Given the description of an element on the screen output the (x, y) to click on. 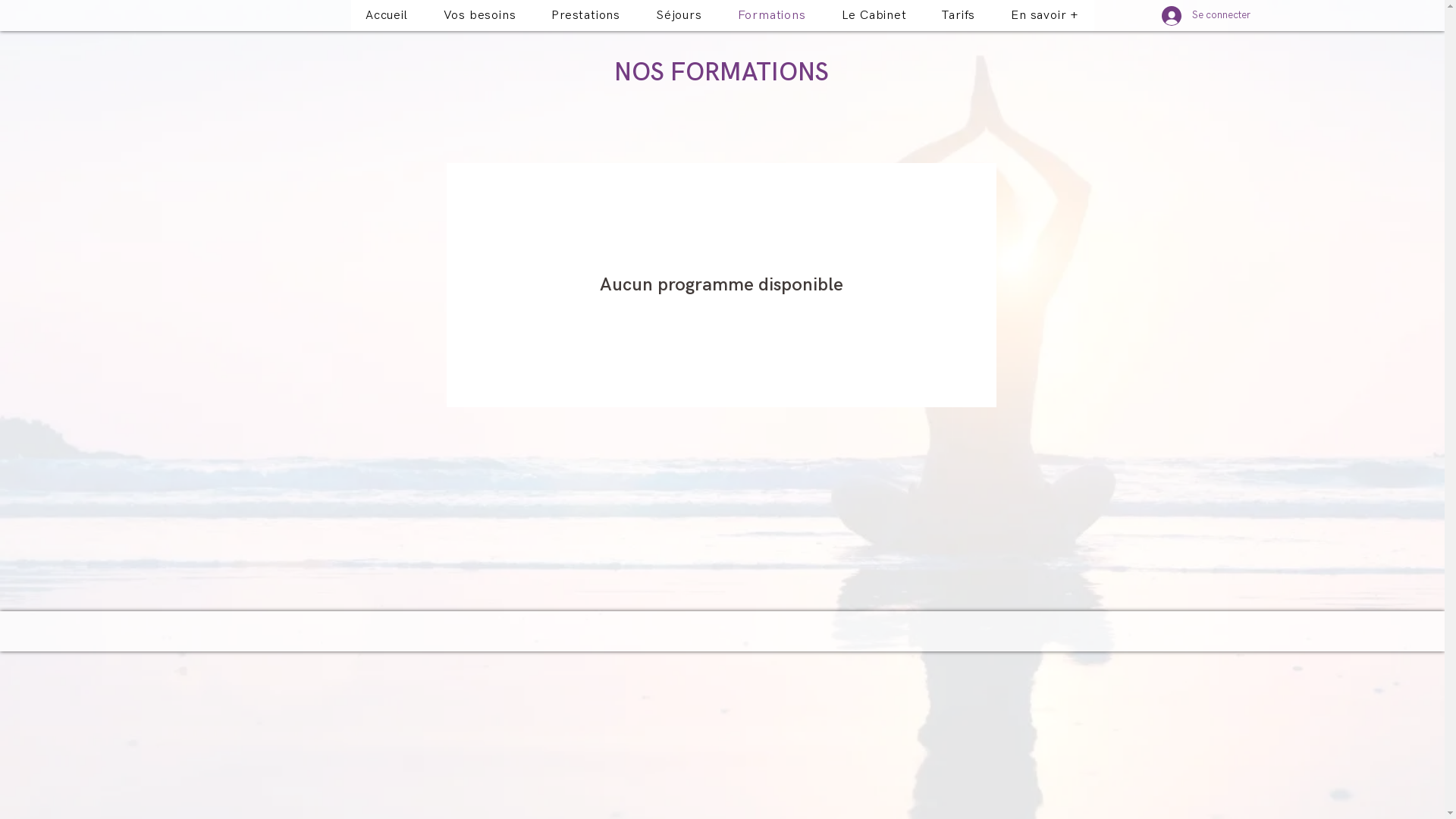
Se connecter Element type: text (1206, 15)
Le Cabinet Element type: text (873, 15)
Vos besoins Element type: text (479, 15)
En savoir + Element type: text (1045, 15)
Accueil Element type: text (386, 15)
Tarifs Element type: text (958, 15)
Formations Element type: text (771, 15)
Prestations Element type: text (585, 15)
